Given the description of an element on the screen output the (x, y) to click on. 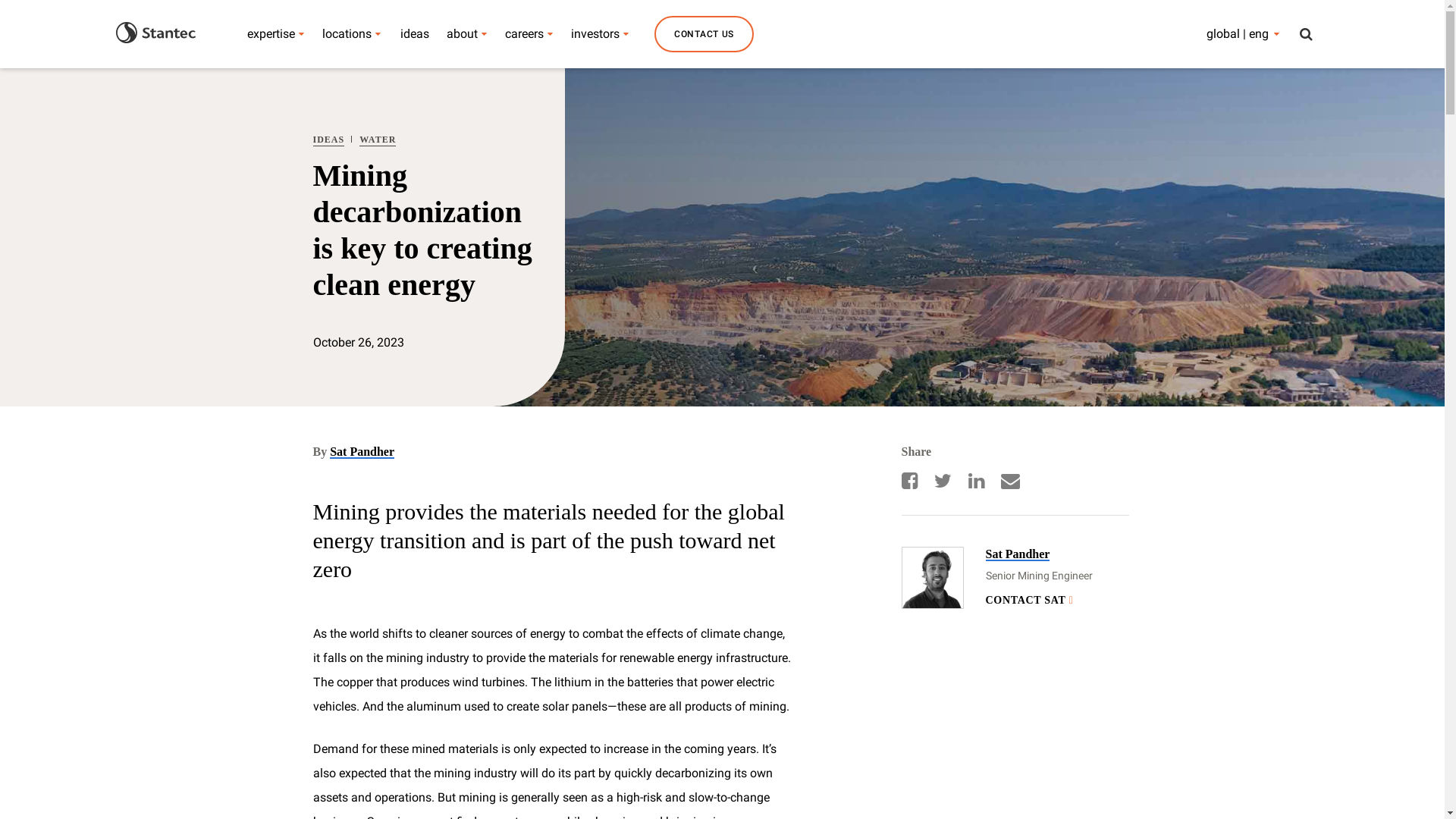
expertise (270, 33)
